Given the description of an element on the screen output the (x, y) to click on. 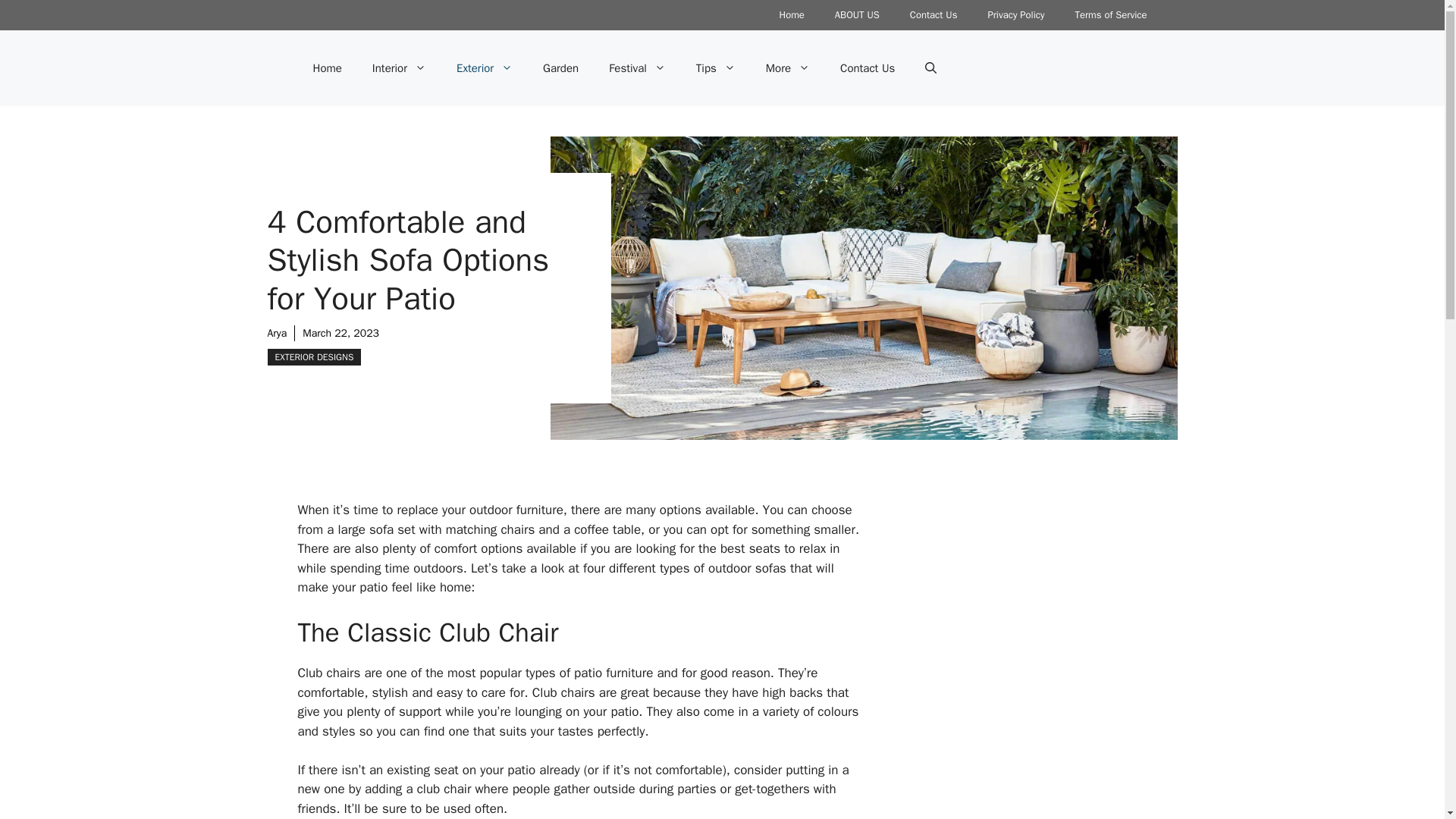
Contact Us (933, 15)
Residence Style (1019, 659)
Garden (560, 67)
Exterior (484, 67)
Festival (637, 67)
More (788, 67)
ABOUT US (857, 15)
Interior (398, 67)
Terms of Service (1110, 15)
Privacy Policy (1015, 15)
Home (326, 67)
Home (791, 15)
Tips (716, 67)
